Given the description of an element on the screen output the (x, y) to click on. 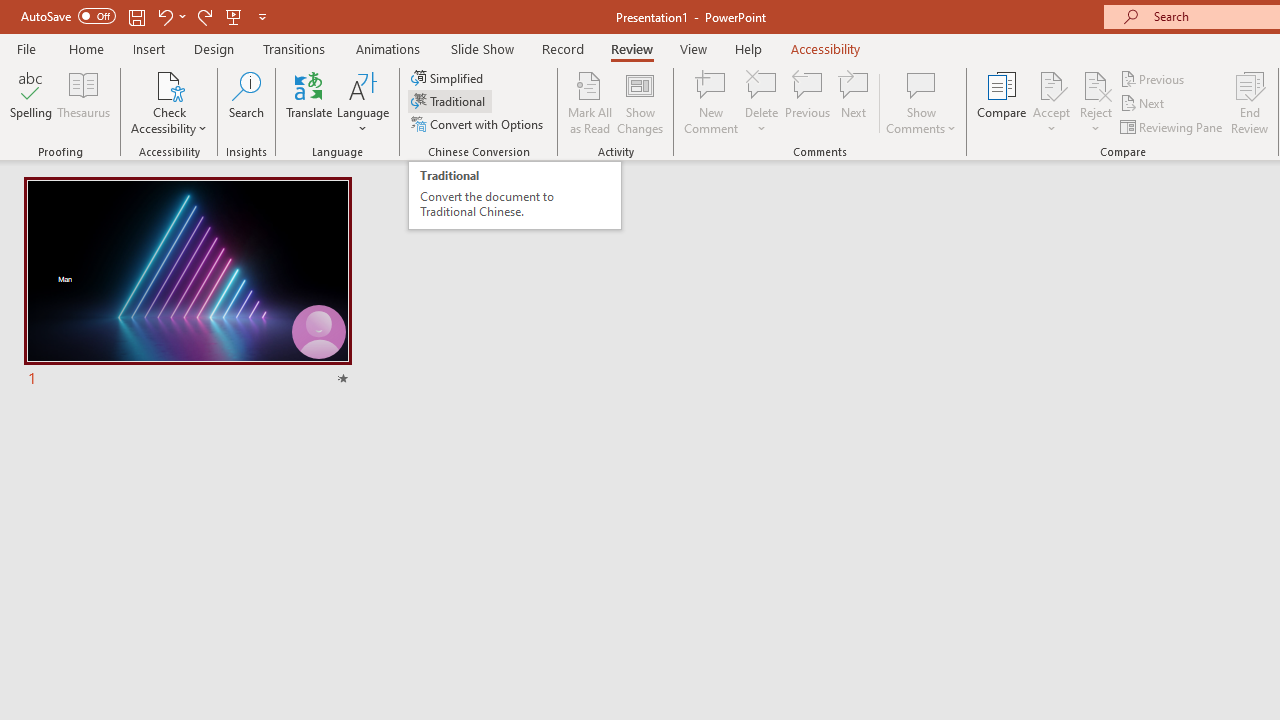
Language (363, 102)
Delete (762, 102)
Show Comments (921, 102)
Spelling... (31, 102)
Traditional (449, 101)
Reject Change (1096, 84)
